Given the description of an element on the screen output the (x, y) to click on. 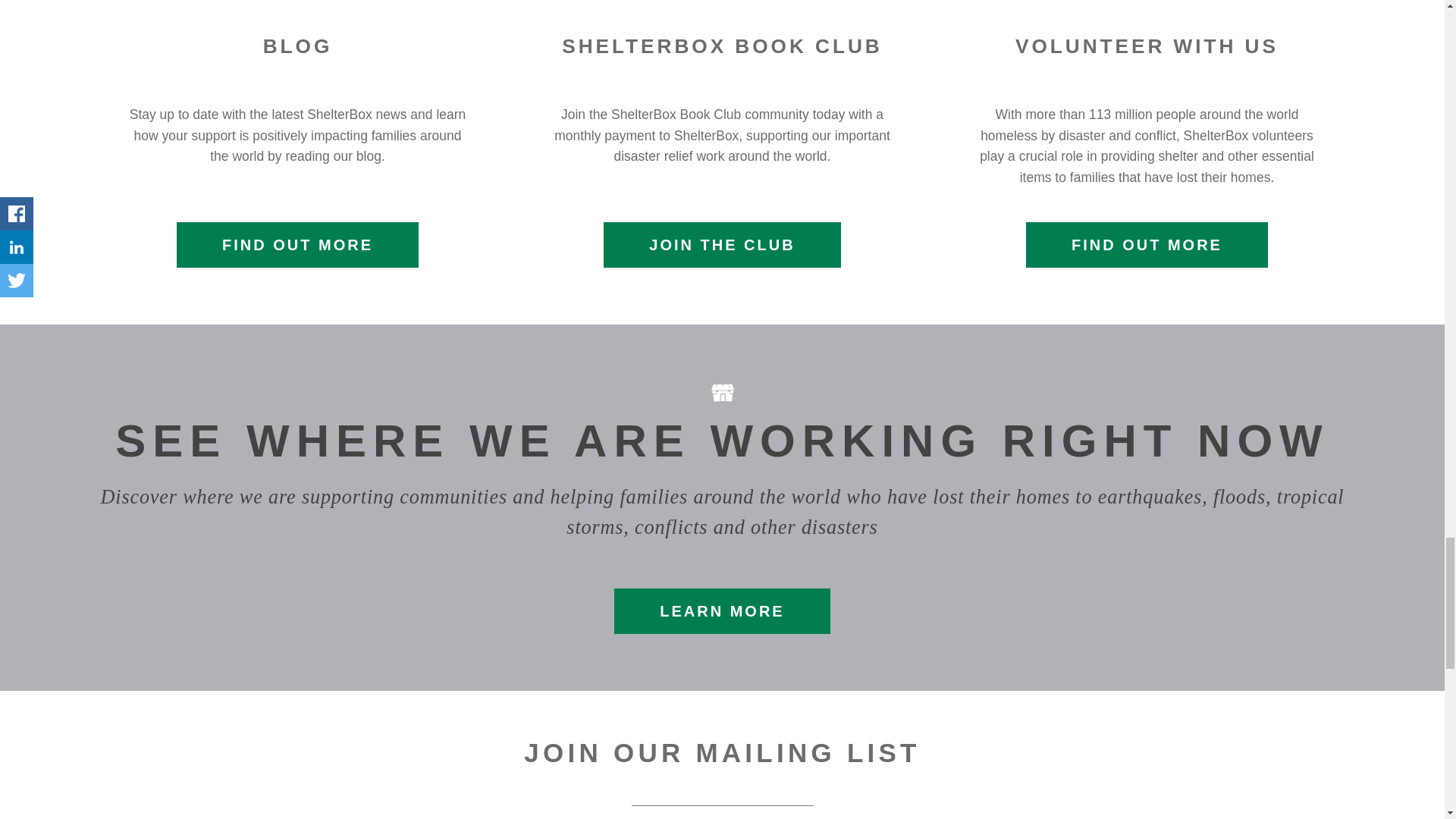
FIND OUT MORE (297, 244)
LEARN MORE (721, 610)
FIND OUT MORE (1147, 244)
JOIN THE CLUB (722, 244)
